Given the description of an element on the screen output the (x, y) to click on. 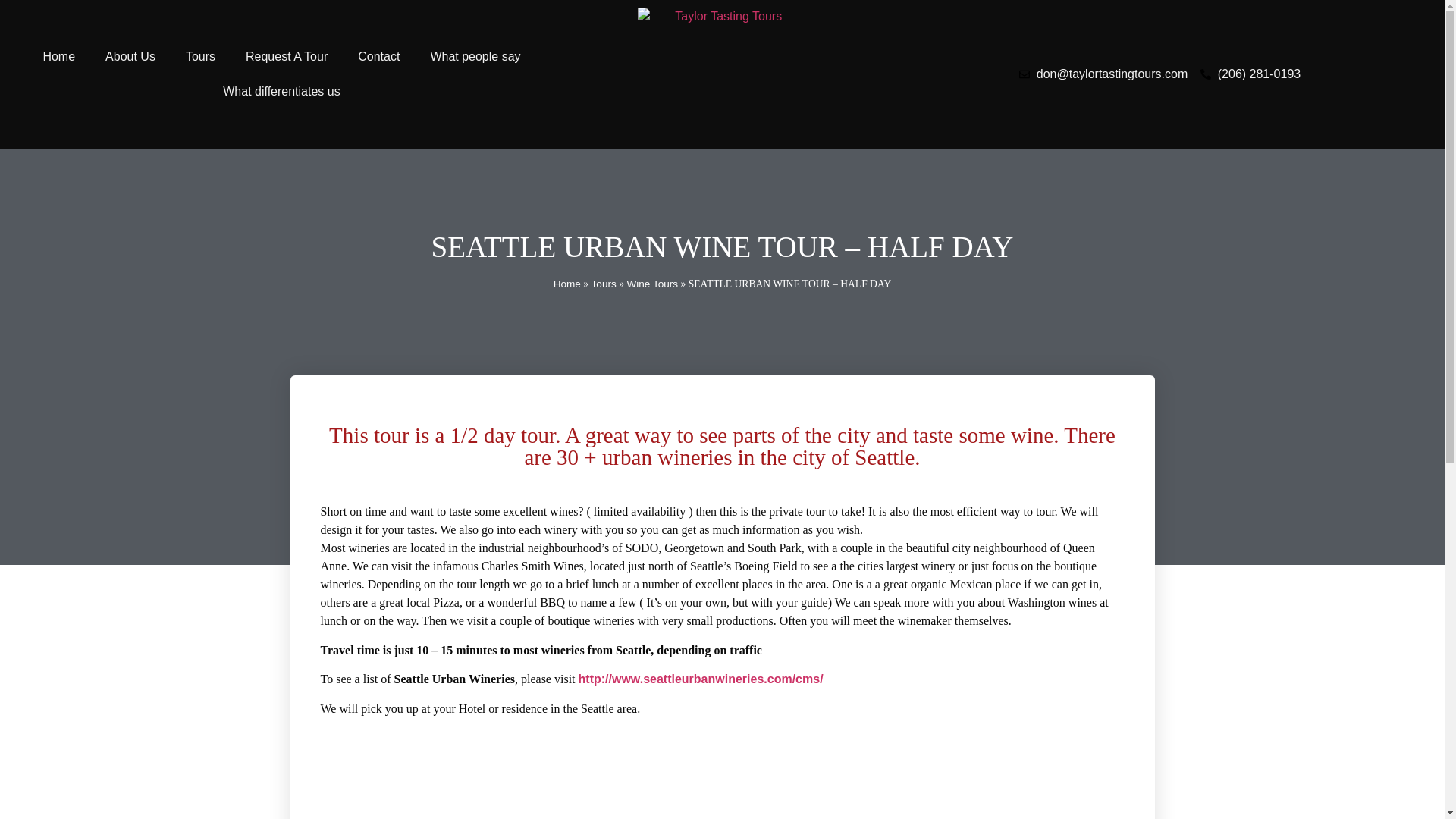
Request A Tour (286, 56)
About Us (130, 56)
What people say (474, 56)
What differentiates us (281, 91)
Contact (378, 56)
Tours (200, 56)
Home (58, 56)
